Given the description of an element on the screen output the (x, y) to click on. 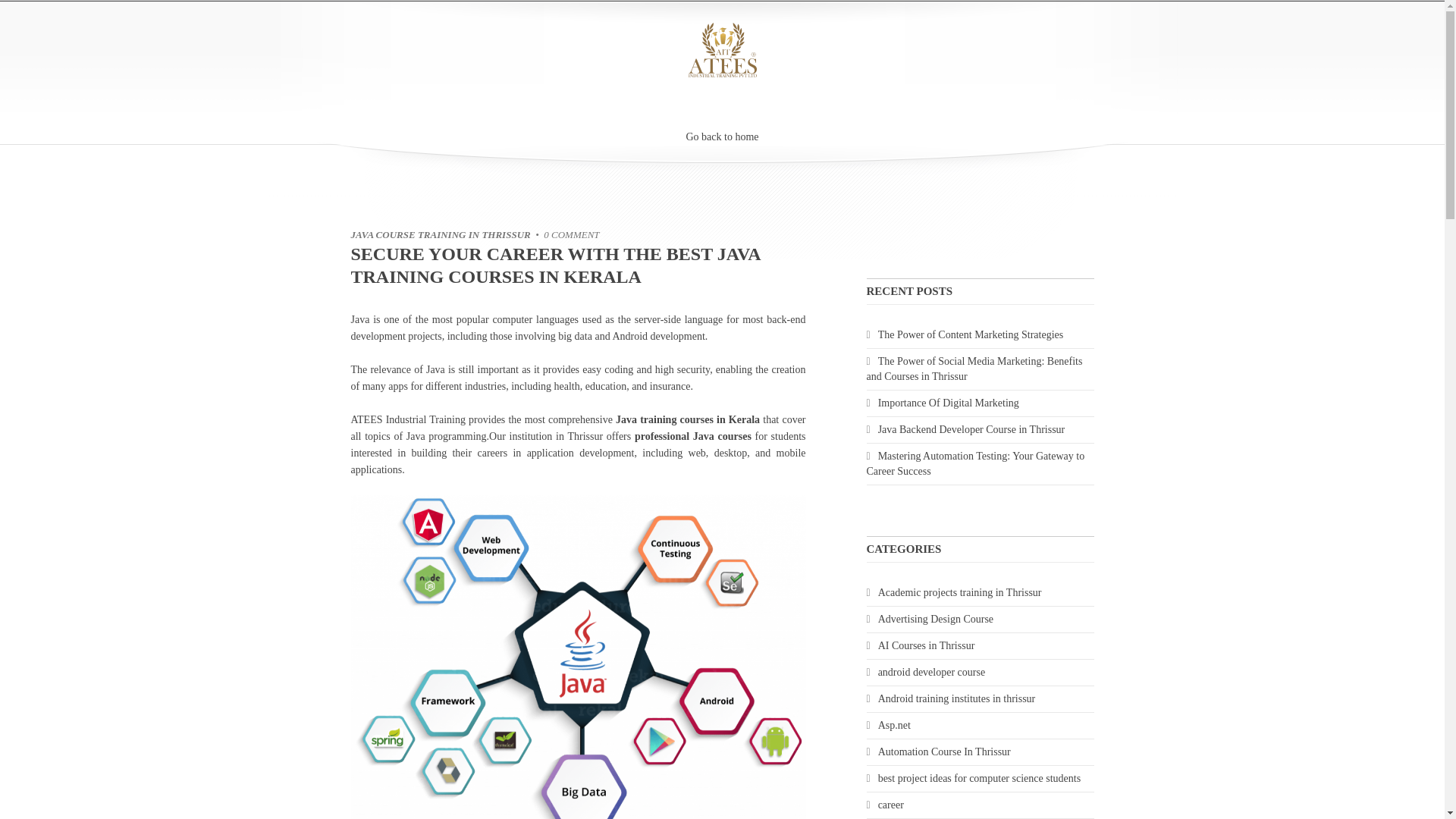
android developer course (979, 672)
Advertising Design Course (979, 619)
Java training courses in Kerala (687, 419)
Mastering Automation Testing: Your Gateway to Career Success (979, 463)
professional Java courses (692, 436)
best project ideas for computer science students (979, 778)
JAVA COURSE TRAINING IN THRISSUR (439, 234)
The Power of Content Marketing Strategies (979, 335)
AI Courses in Thrissur (979, 645)
Automation Course In Thrissur (979, 752)
Android training institutes in thrissur (979, 698)
career (979, 805)
Go back to home (721, 140)
